Given the description of an element on the screen output the (x, y) to click on. 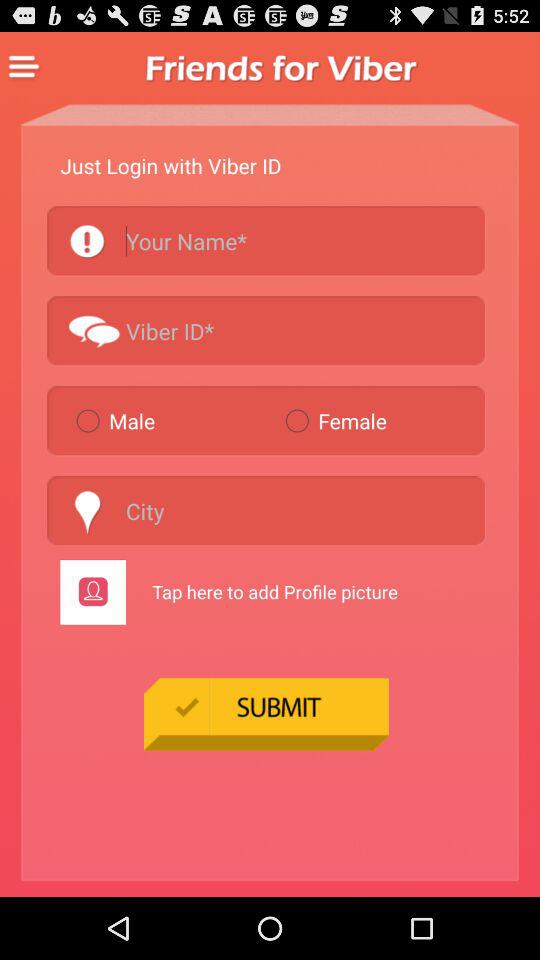
tap the icon next to male item (380, 420)
